Given the description of an element on the screen output the (x, y) to click on. 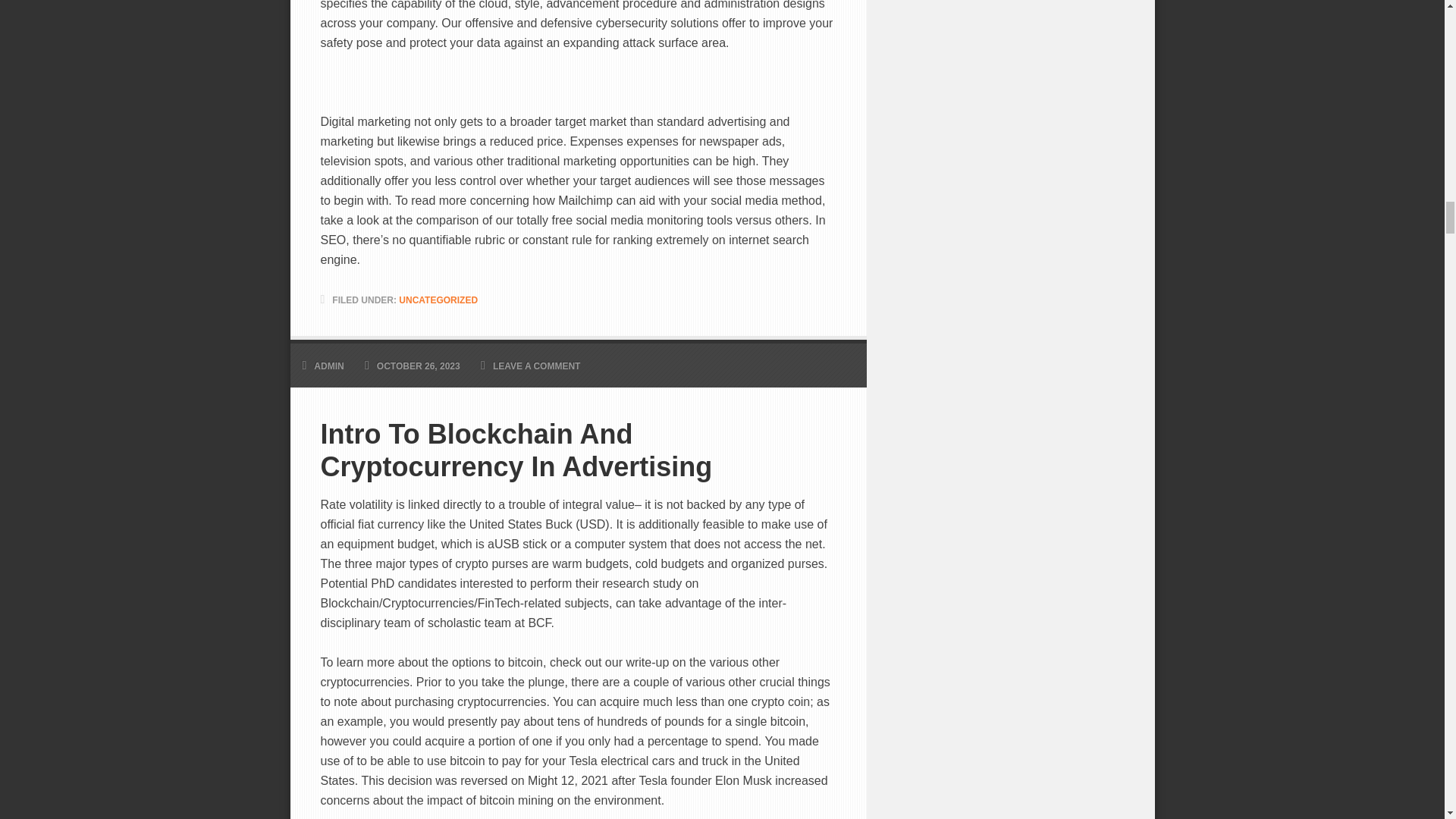
LEAVE A COMMENT (536, 366)
ADMIN (328, 366)
UNCATEGORIZED (437, 299)
Intro To Blockchain And Cryptocurrency In Advertising (577, 450)
